Given the description of an element on the screen output the (x, y) to click on. 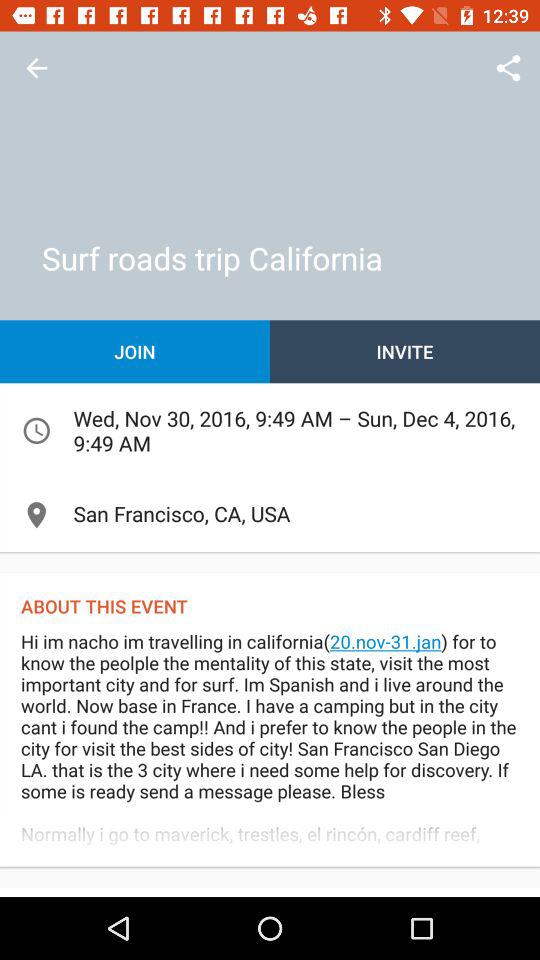
launch item above about this event icon (270, 514)
